Given the description of an element on the screen output the (x, y) to click on. 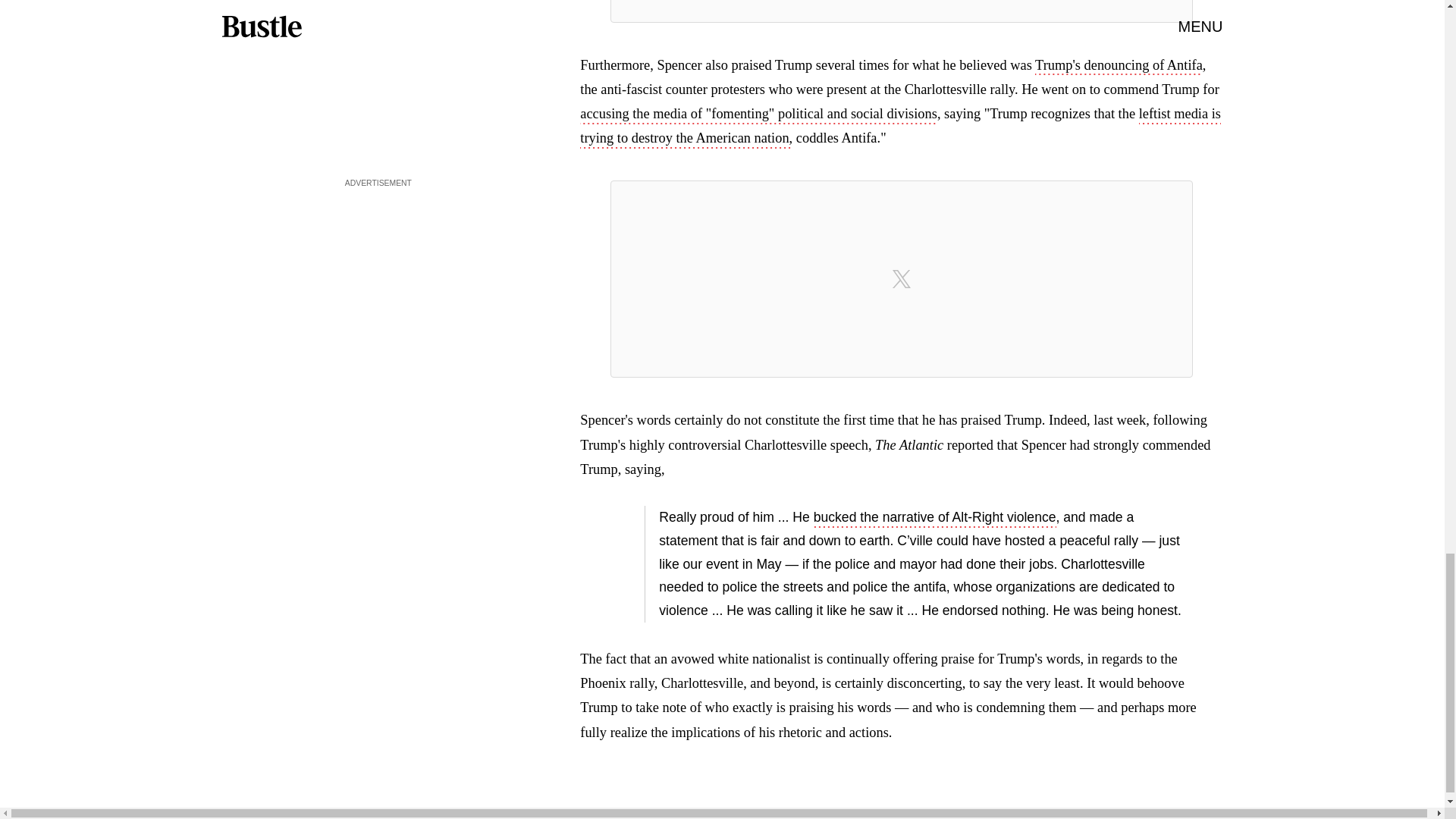
Trump's denouncing of Antifa (1118, 66)
leftist media is trying to destroy the American nation, (900, 127)
bucked the narrative of Alt-Right violence (935, 518)
